Given the description of an element on the screen output the (x, y) to click on. 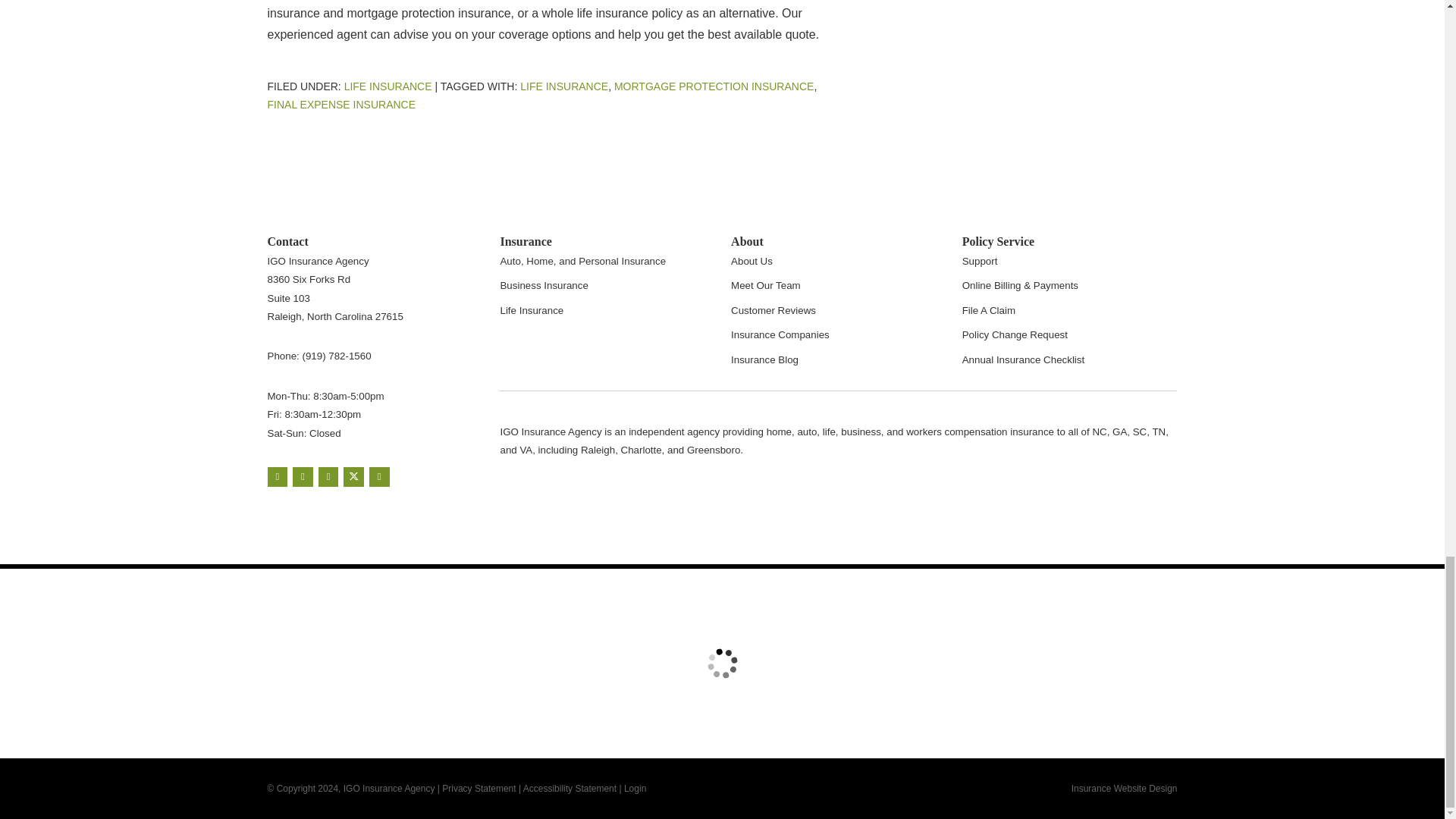
Facebook (328, 476)
Life Insurance (387, 86)
Final Expense Insurance (340, 104)
Life Insurance (563, 86)
Yelp (302, 476)
LinkedIn (379, 476)
Mortgage Protection Insurance (713, 86)
X (353, 476)
Google Maps (276, 476)
